Given the description of an element on the screen output the (x, y) to click on. 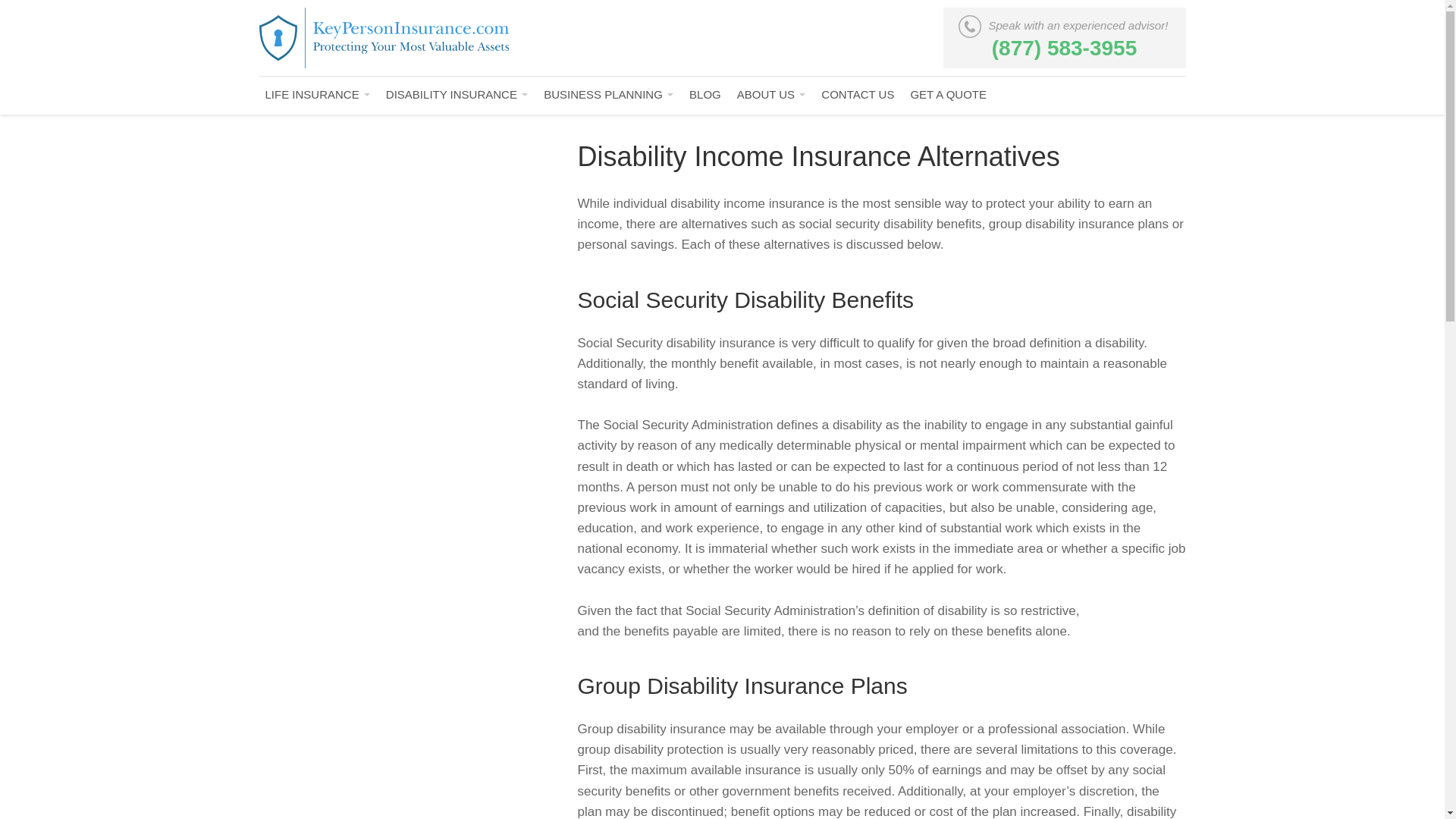
GET A QUOTE (948, 94)
ABOUT US (771, 94)
DISABILITY INSURANCE (457, 94)
CONTACT US (857, 94)
BUSINESS PLANNING (608, 94)
LIFE INSURANCE (317, 94)
BLOG (704, 94)
